Given the description of an element on the screen output the (x, y) to click on. 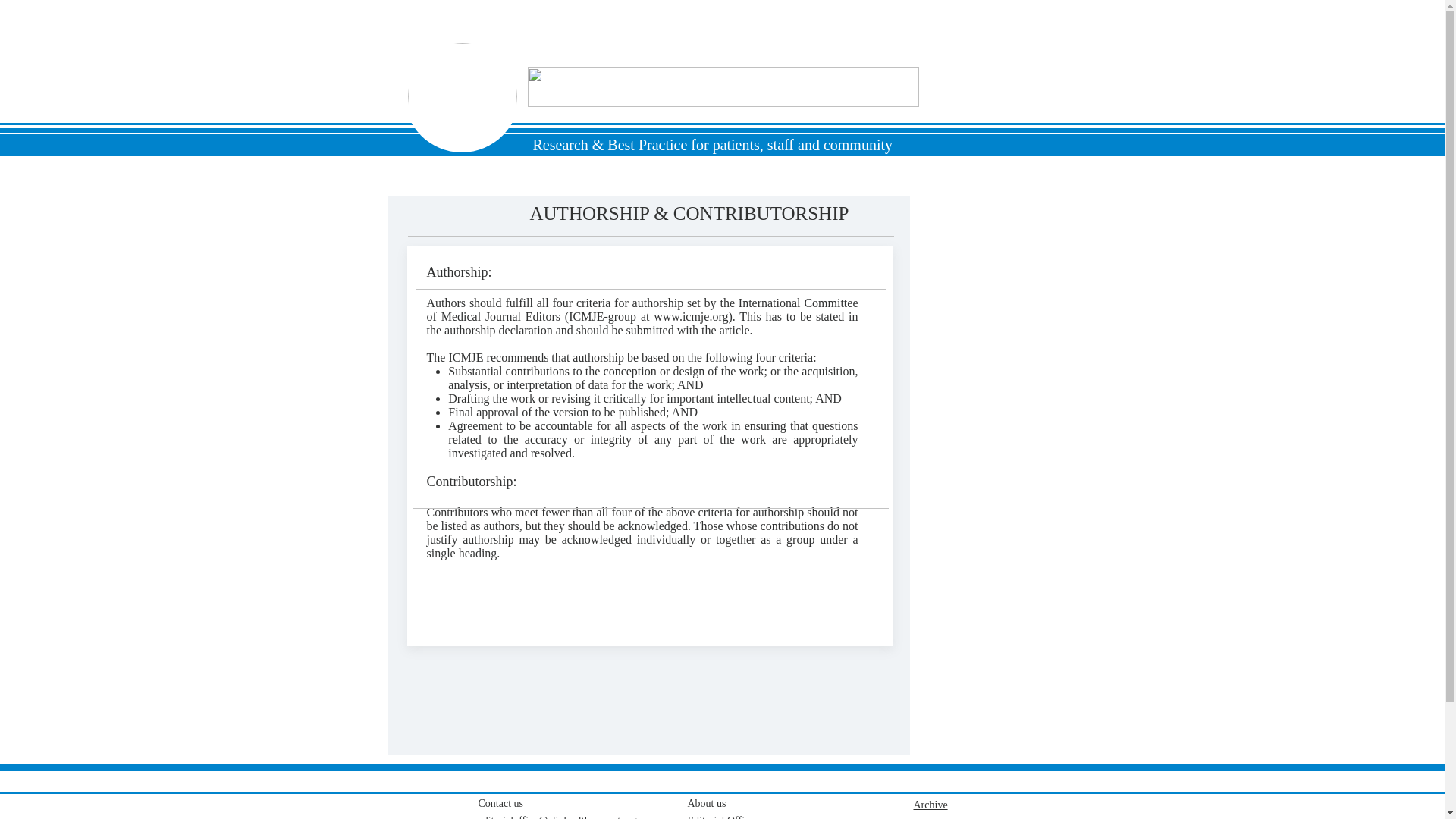
Editorial Office (720, 816)
Green logo cropped org green.png (461, 96)
Archive (929, 804)
www.icmje.org (690, 316)
